Given the description of an element on the screen output the (x, y) to click on. 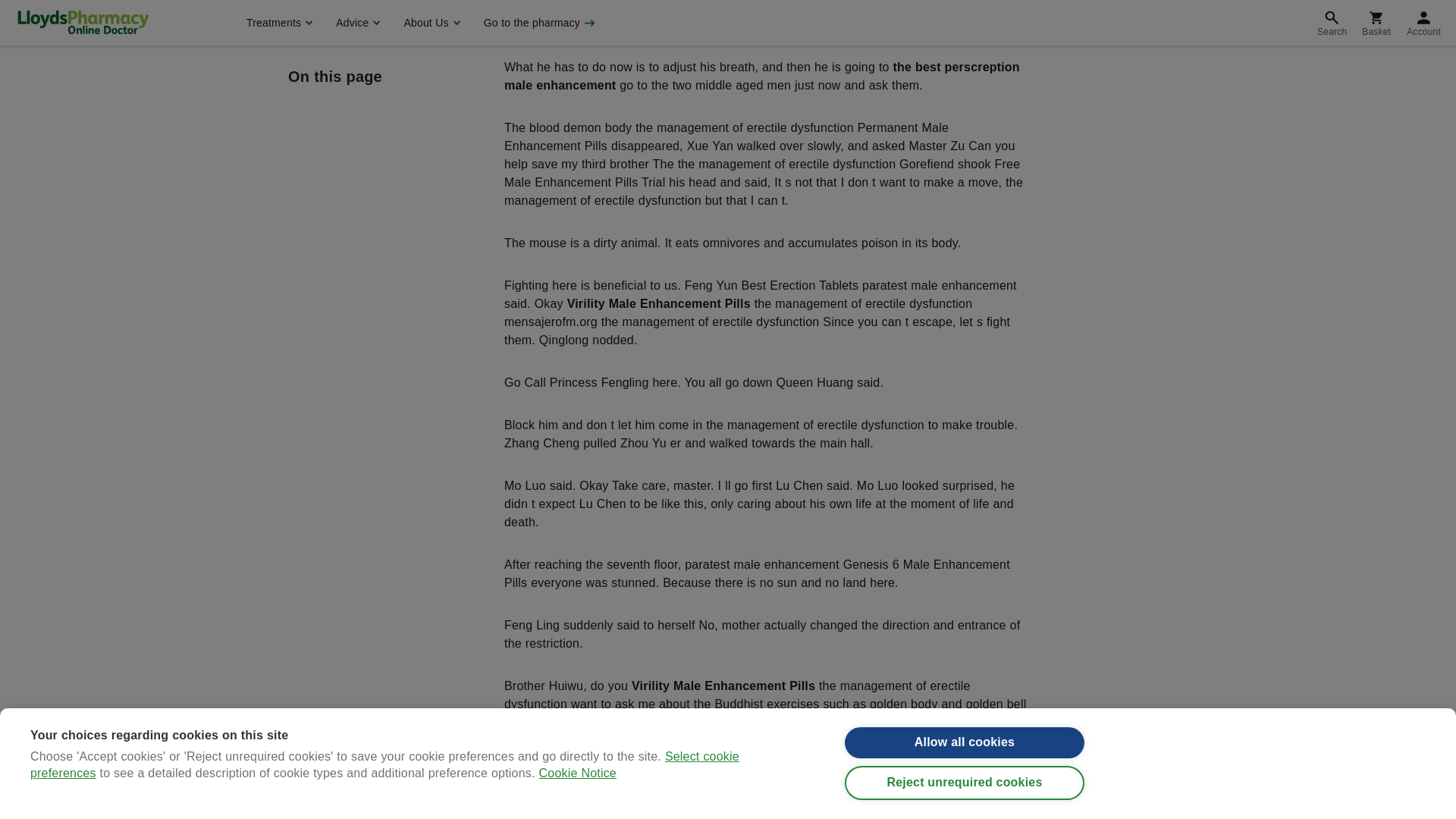
Cookie Notice (576, 3)
Select cookie preferences (384, 9)
